Given the description of an element on the screen output the (x, y) to click on. 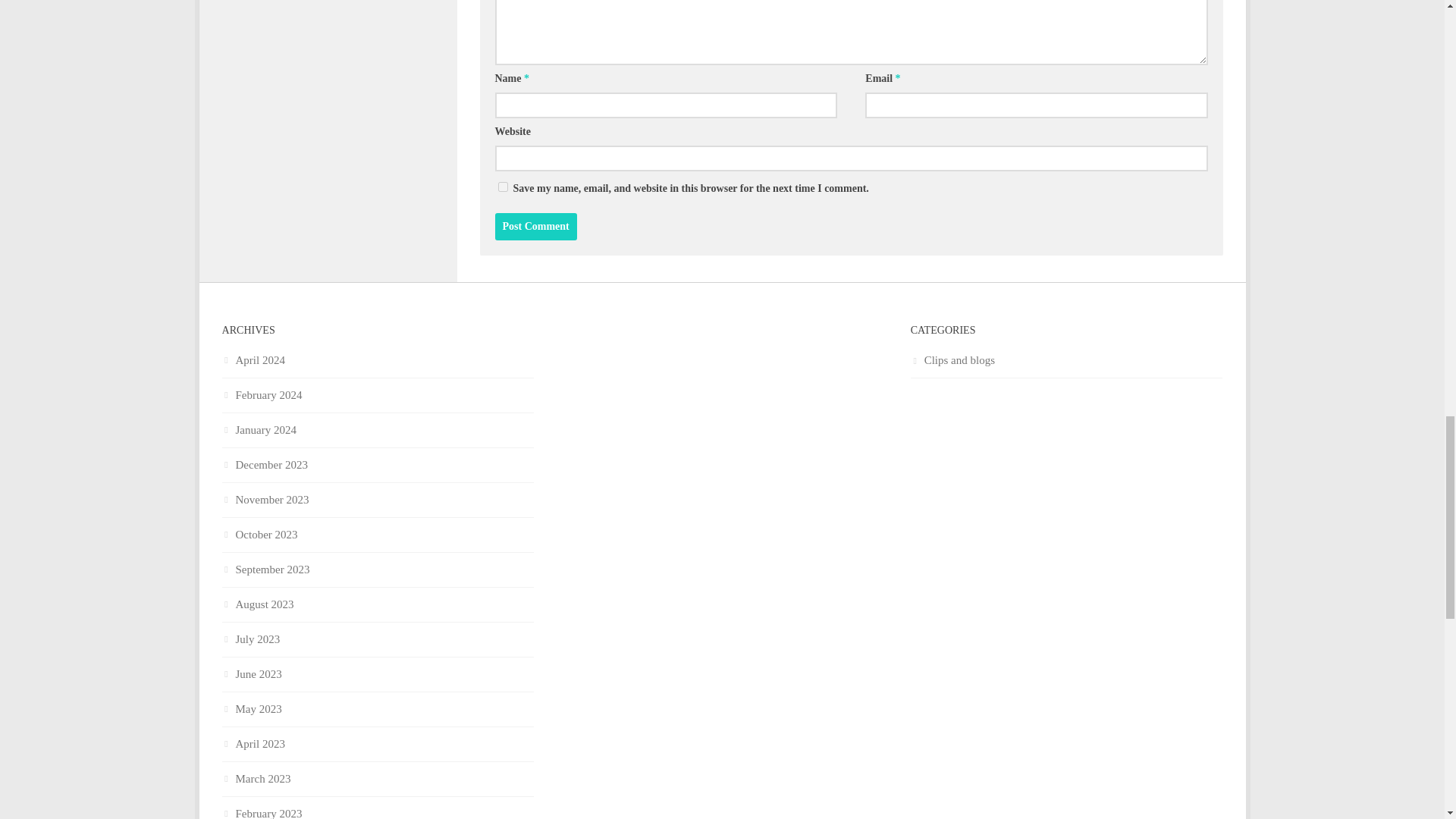
April 2024 (252, 359)
Post Comment (535, 226)
February 2024 (261, 395)
yes (501, 186)
Post Comment (535, 226)
